Given the description of an element on the screen output the (x, y) to click on. 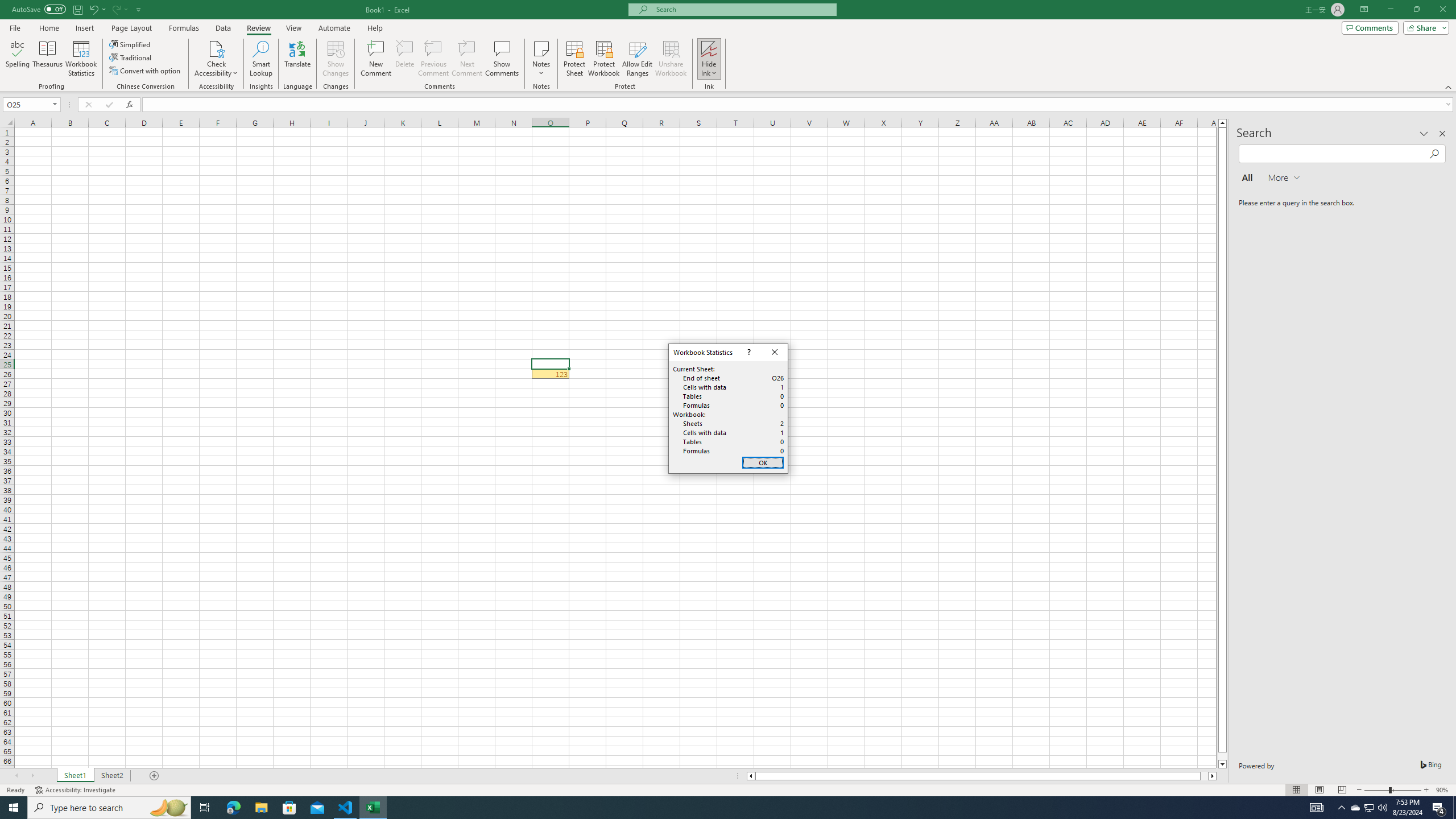
OK (1368, 807)
Traditional (762, 462)
Delete (131, 56)
